Given the description of an element on the screen output the (x, y) to click on. 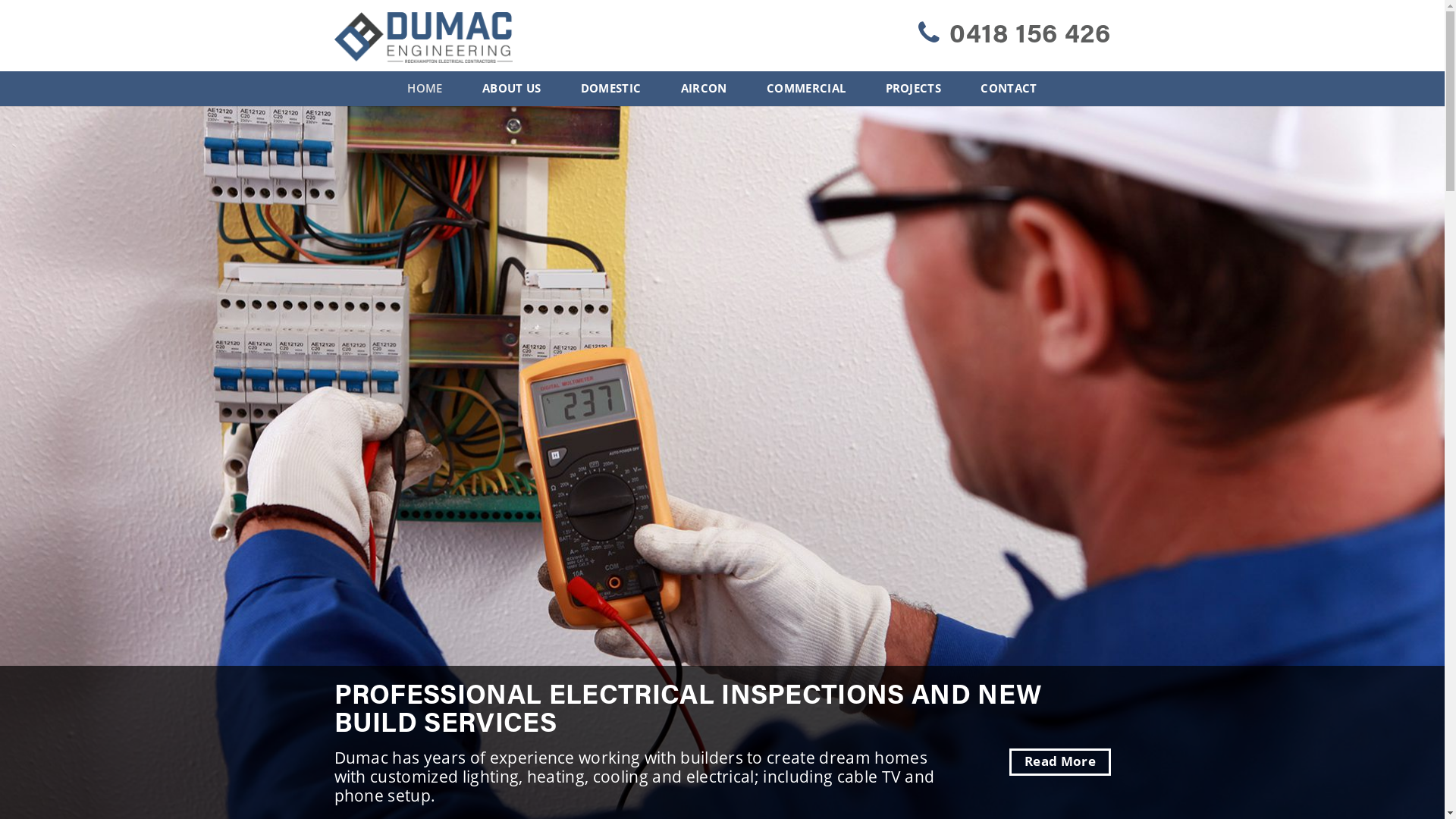
0418 156 426 Element type: text (1014, 35)
ABOUT US Element type: text (511, 88)
Read More Element type: text (1059, 761)
COMMERCIAL Element type: text (805, 88)
PROJECTS Element type: text (913, 88)
AIRCON Element type: text (703, 88)
DOMESTIC Element type: text (610, 88)
CONTACT Element type: text (1008, 88)
HOME Element type: text (424, 88)
